Given the description of an element on the screen output the (x, y) to click on. 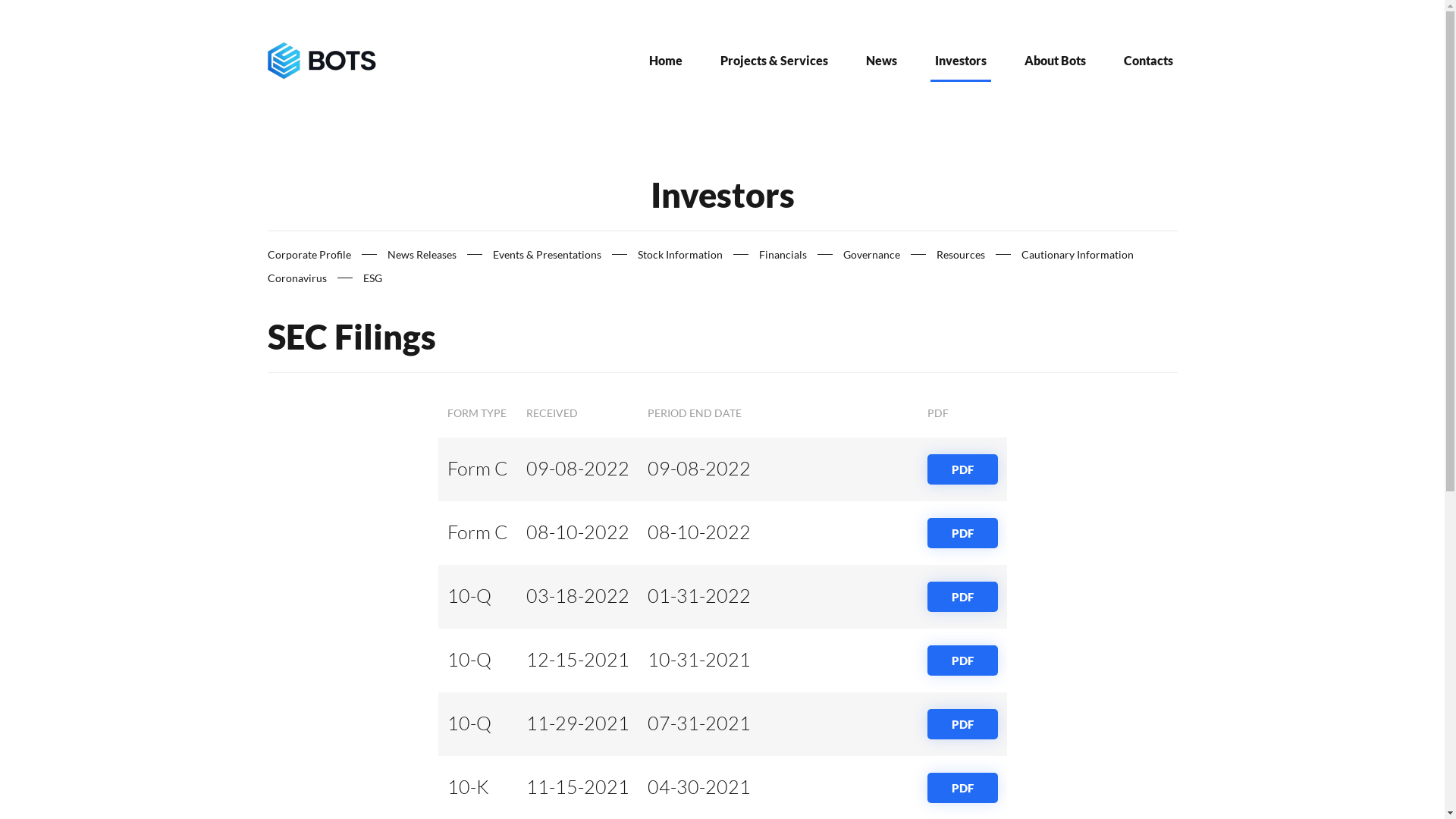
PDF Element type: text (961, 787)
Governance Element type: text (871, 254)
Corporate Profile Element type: text (308, 254)
Home Element type: text (665, 60)
Resources Element type: text (959, 254)
Financials Element type: text (782, 254)
News Releases Element type: text (420, 254)
About Bots Element type: text (1054, 60)
ESG Element type: text (371, 277)
Investors Element type: text (959, 60)
Cautionary Information Element type: text (1076, 254)
Contacts Element type: text (1148, 60)
PDF Element type: text (961, 724)
PDF Element type: text (961, 596)
Coronavirus Element type: text (296, 277)
PDF Element type: text (961, 660)
PDF Element type: text (961, 532)
Stock Information Element type: text (679, 254)
Events & Presentations Element type: text (546, 254)
Projects & Services Element type: text (773, 60)
News Element type: text (881, 60)
PDF Element type: text (961, 469)
